Given the description of an element on the screen output the (x, y) to click on. 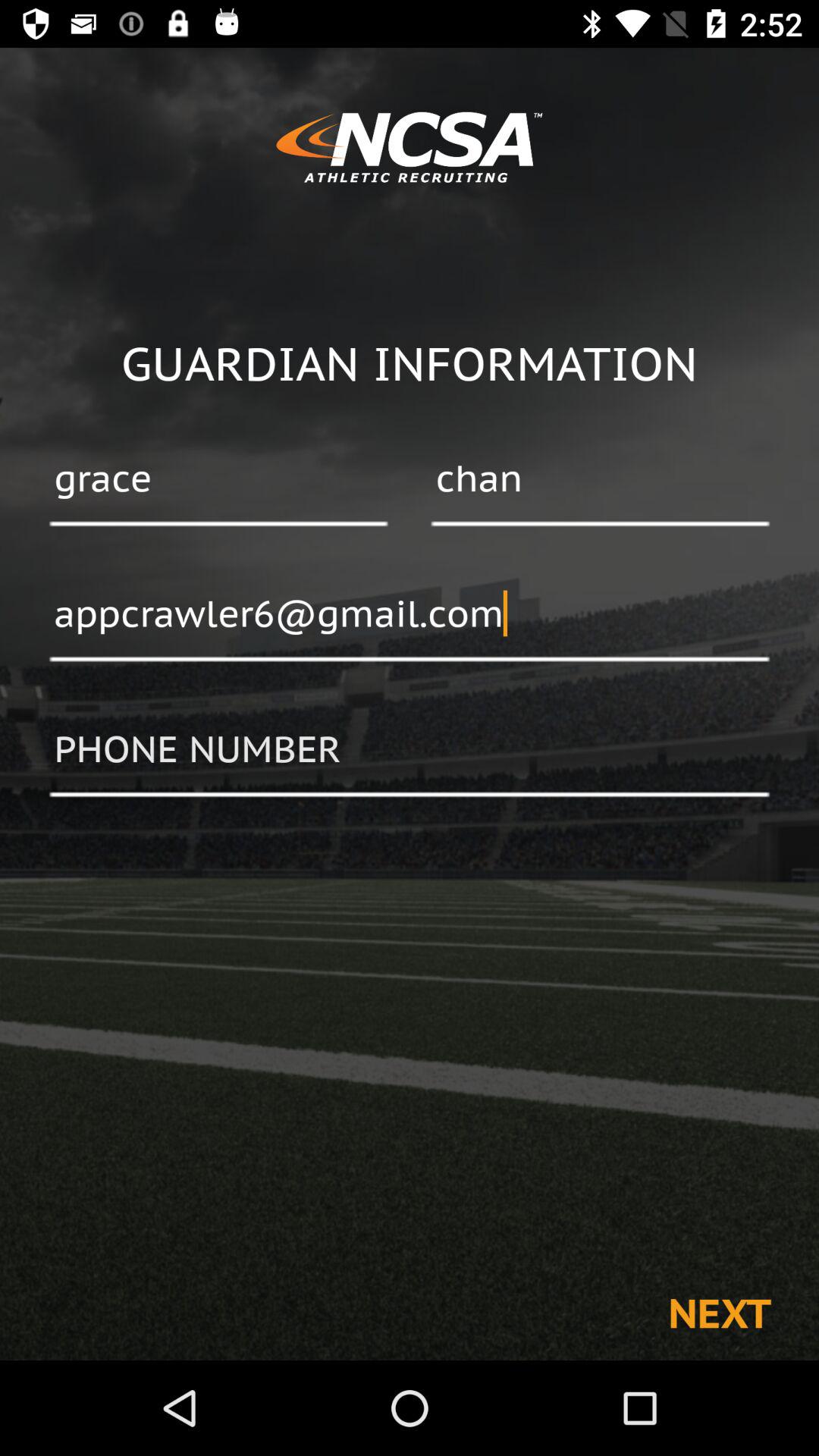
scroll to appcrawler6@gmail.com (409, 615)
